Given the description of an element on the screen output the (x, y) to click on. 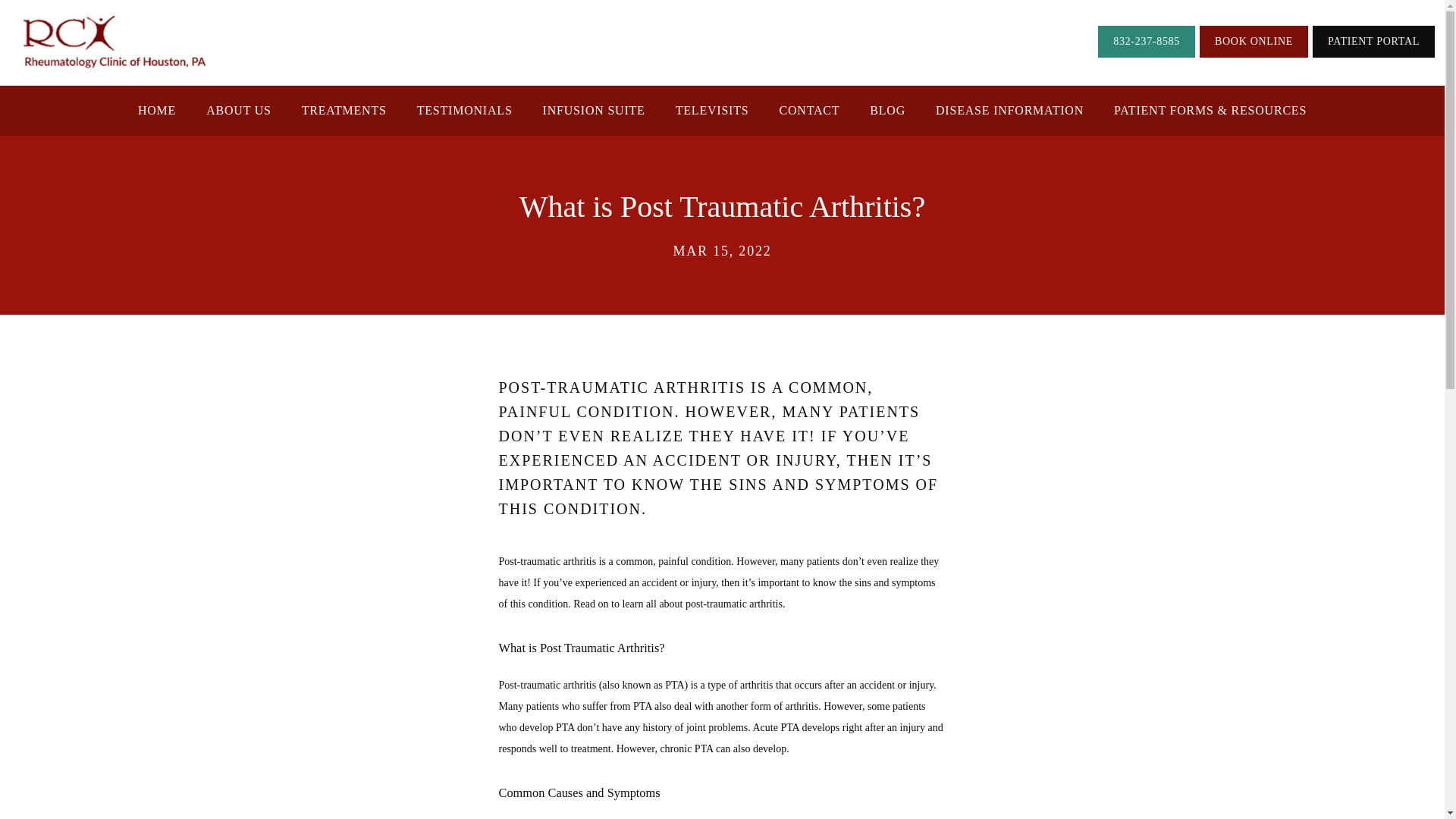
BLOG (887, 110)
TESTIMONIALS (464, 110)
832-237-8585 (1146, 42)
CONTACT (809, 110)
TREATMENTS (344, 110)
ABOUT US (238, 110)
BOOK ONLINE (1253, 42)
HOME (157, 110)
INFUSION SUITE (594, 110)
TELEVISITS (712, 110)
